Given the description of an element on the screen output the (x, y) to click on. 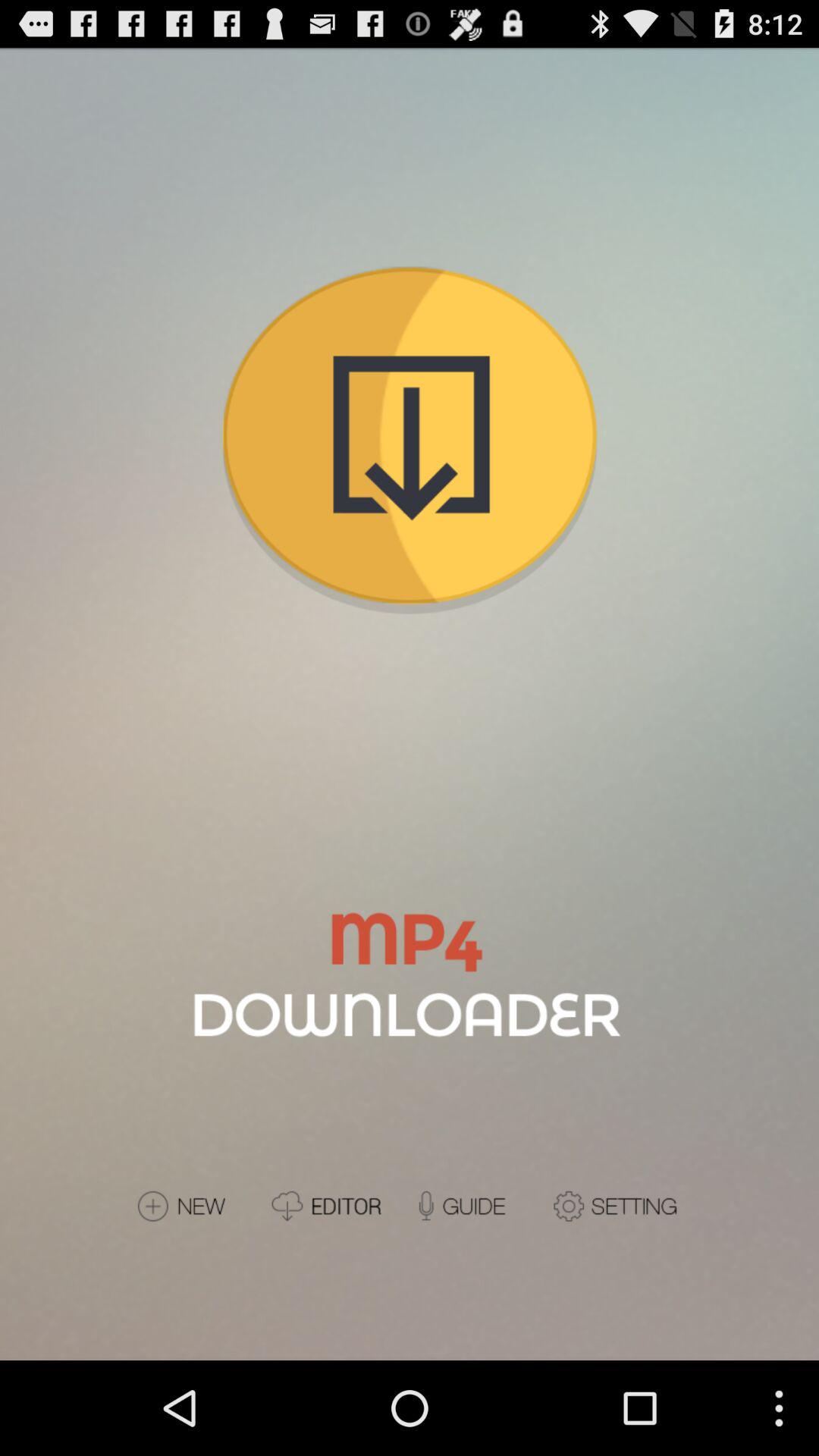
add a new one (197, 1206)
